Given the description of an element on the screen output the (x, y) to click on. 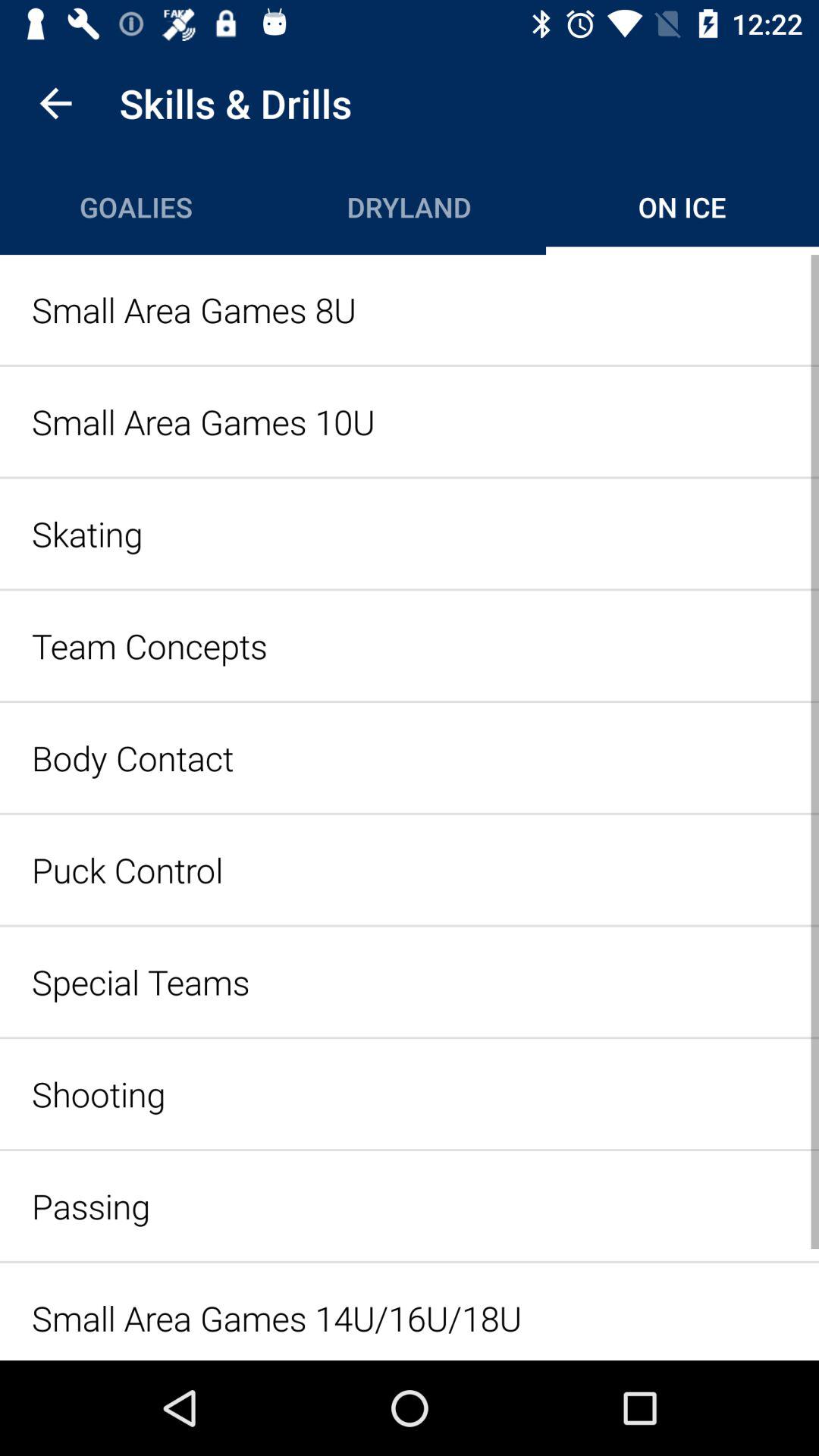
launch the team concepts (409, 645)
